Given the description of an element on the screen output the (x, y) to click on. 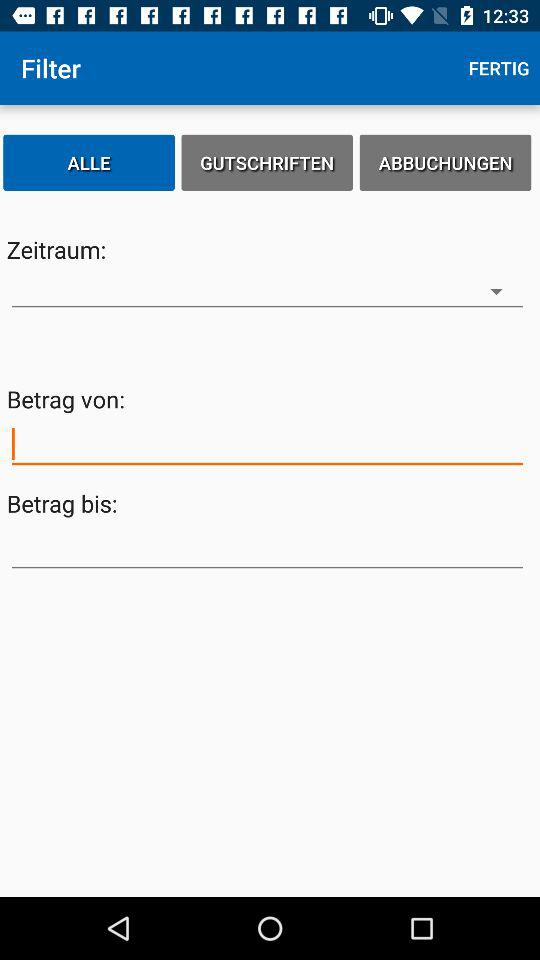
tap the icon to the left of abbuchungen (267, 162)
